Given the description of an element on the screen output the (x, y) to click on. 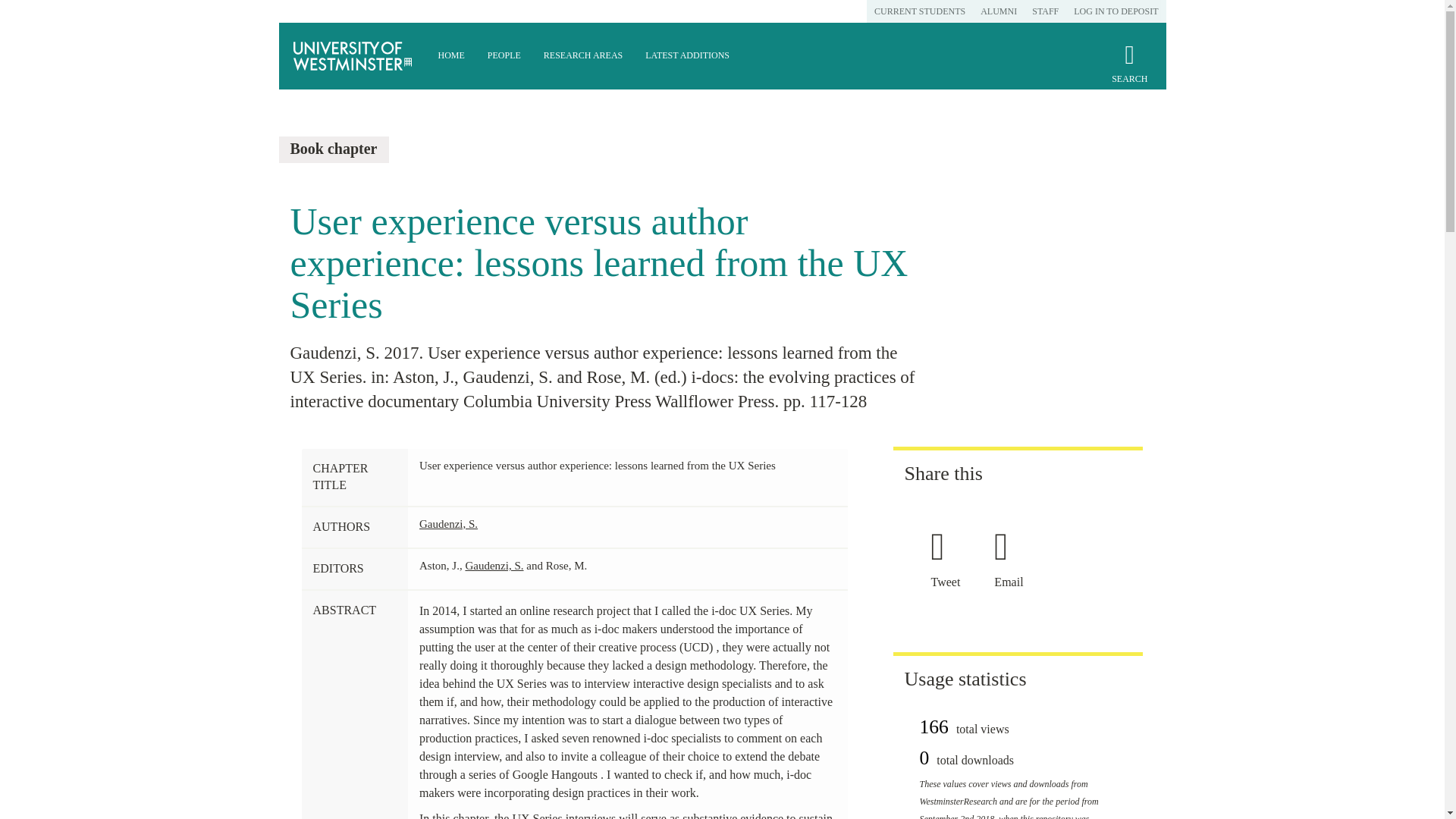
RESEARCH AREAS (582, 55)
Tweet (950, 581)
STAFF (1045, 11)
ALUMNI (998, 11)
SEARCH (1129, 69)
LATEST ADDITIONS (687, 55)
LOG IN TO DEPOSIT (1115, 11)
CURRENT STUDENTS (919, 11)
Email (1013, 581)
Gaudenzi, S. (493, 565)
Gaudenzi, S. (448, 523)
University of Westminster (352, 55)
